Given the description of an element on the screen output the (x, y) to click on. 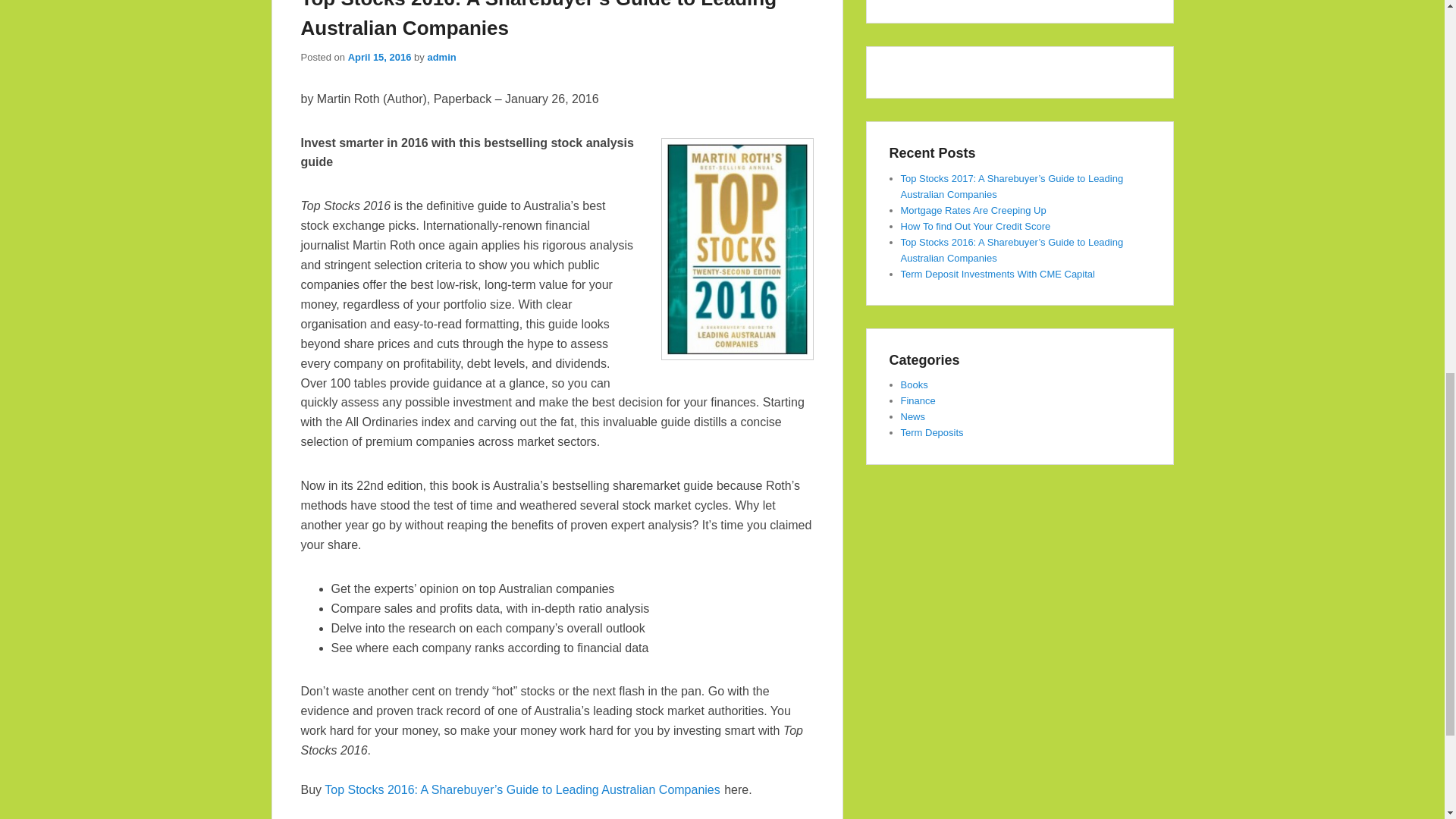
4:08 am (379, 57)
Term Deposit Investments With CME Capital (997, 274)
admin (440, 57)
Term Deposits (932, 432)
Mortgage Rates Are Creeping Up (973, 210)
Books (914, 384)
Finance (918, 400)
April 15, 2016 (379, 57)
News (913, 416)
View all posts by admin (440, 57)
How To find Out Your Credit Score (976, 225)
